Given the description of an element on the screen output the (x, y) to click on. 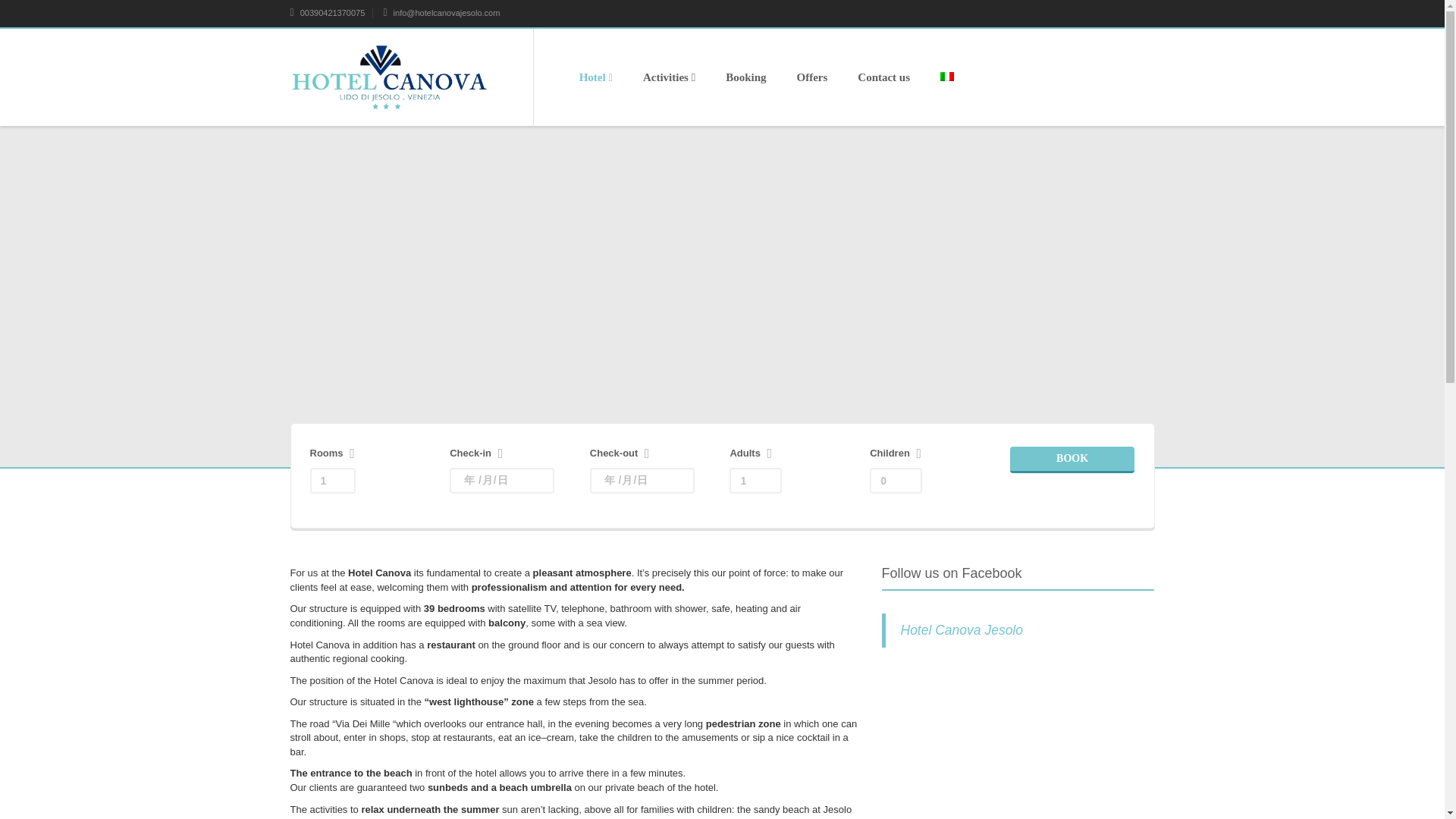
Book (1072, 459)
Hotel Canova Jesolo (962, 630)
Book (1072, 459)
00390421370075 (327, 12)
